Given the description of an element on the screen output the (x, y) to click on. 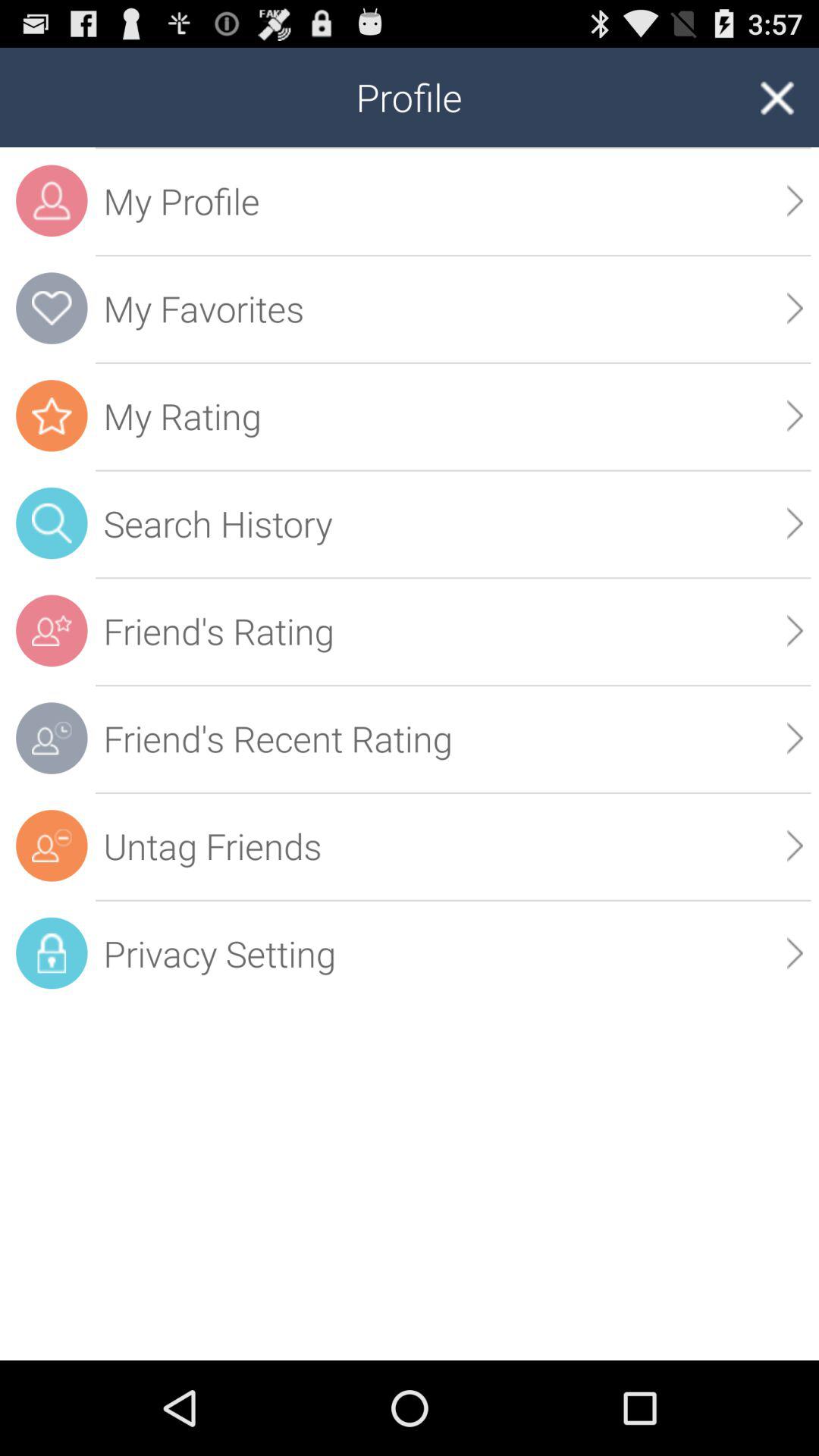
select item above friend s recent item (795, 630)
